Given the description of an element on the screen output the (x, y) to click on. 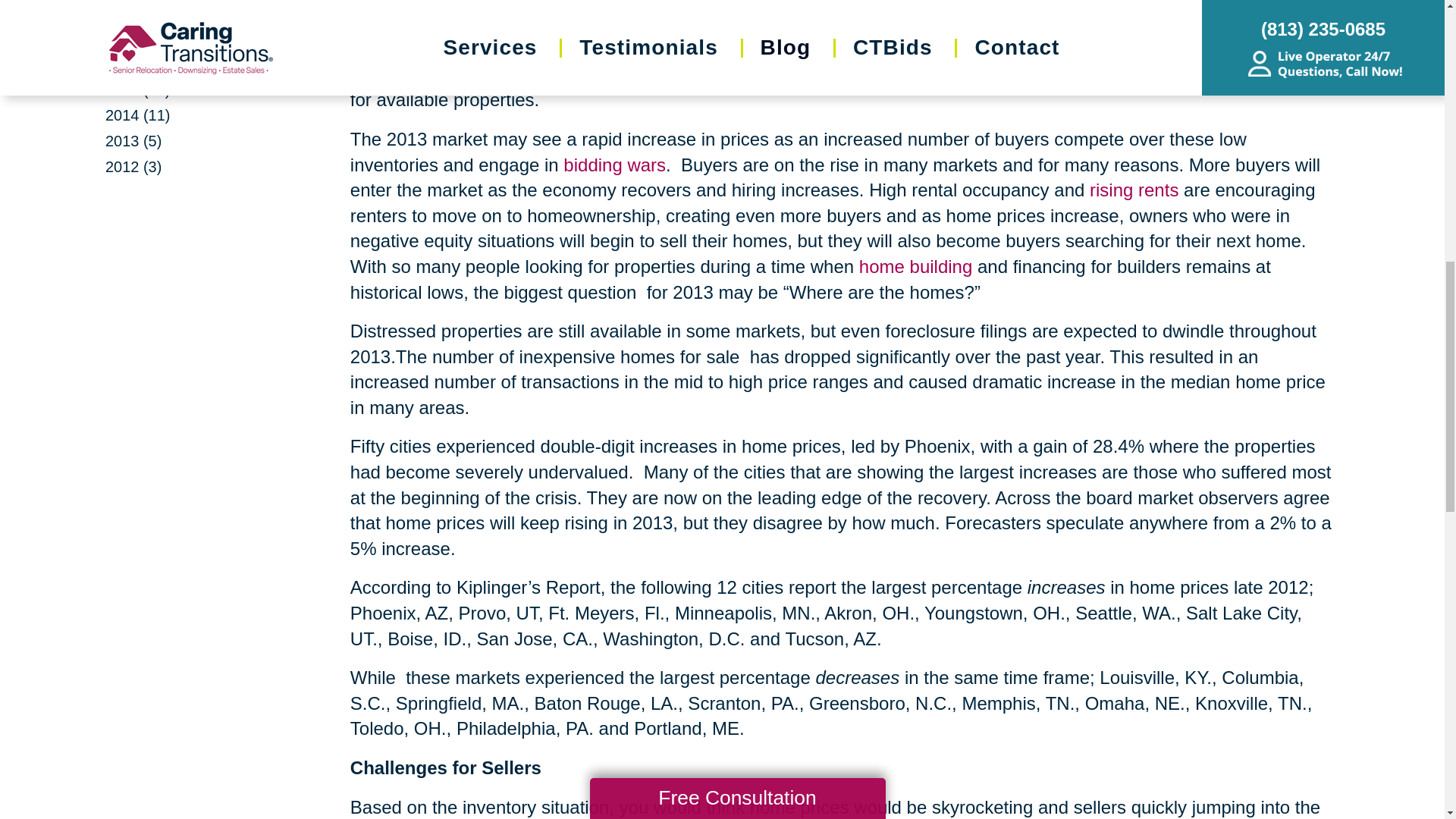
home building (915, 266)
bidding wars (614, 164)
rising rents (1133, 189)
